Given the description of an element on the screen output the (x, y) to click on. 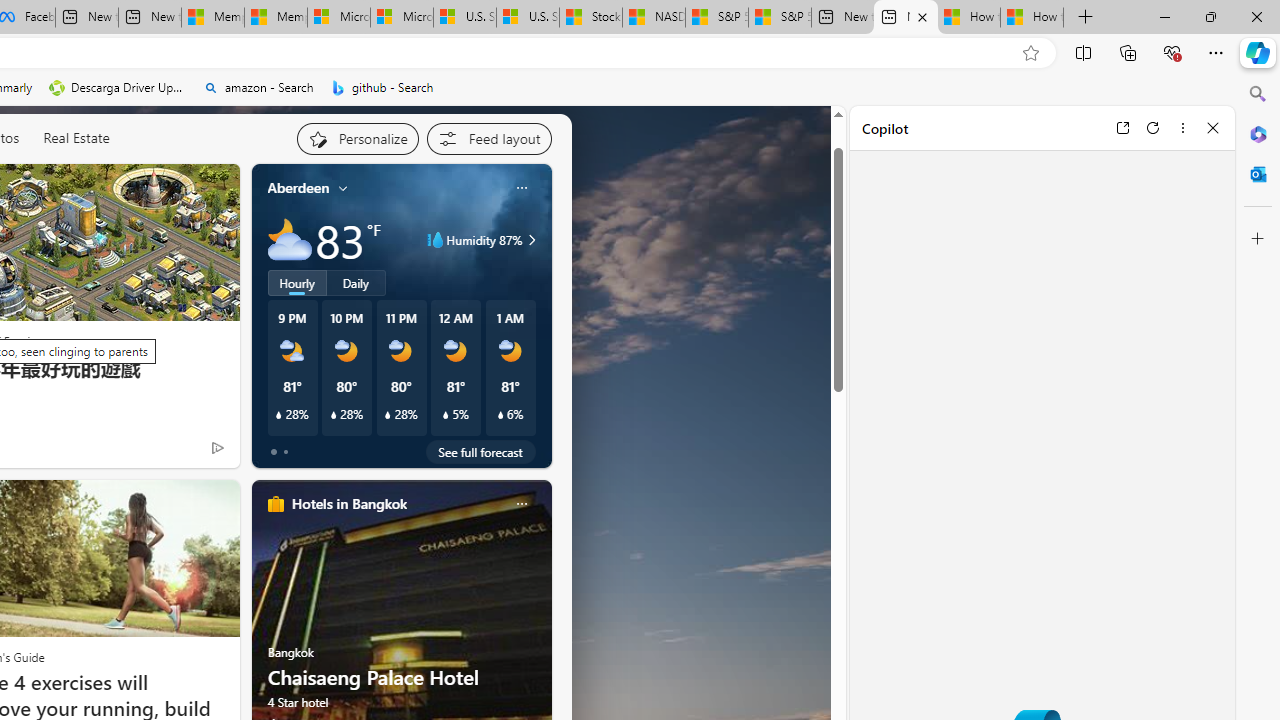
Personalize your feed" (356, 138)
hotels-header-icon (275, 503)
More options (1182, 127)
How to Use a Monitor With Your Closed Laptop (1032, 17)
amazon - Search (258, 88)
Class: weather-arrow-glyph (531, 240)
Real Estate (75, 138)
